Given the description of an element on the screen output the (x, y) to click on. 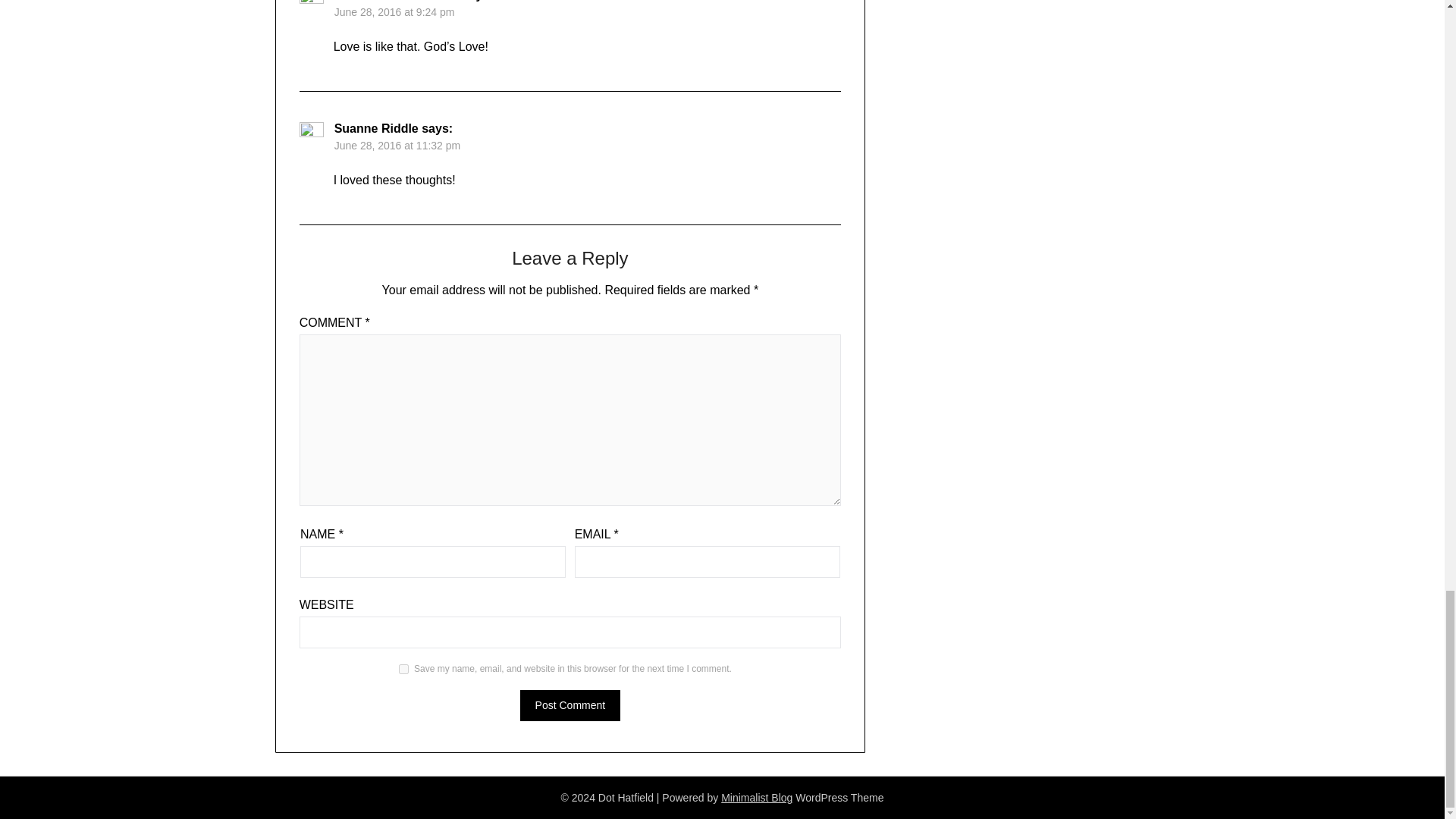
Freeda Baker Nichold (397, 0)
Post Comment (570, 705)
June 28, 2016 at 9:24 pm (394, 10)
yes (403, 668)
Post Comment (570, 705)
June 28, 2016 at 11:32 pm (397, 144)
